Given the description of an element on the screen output the (x, y) to click on. 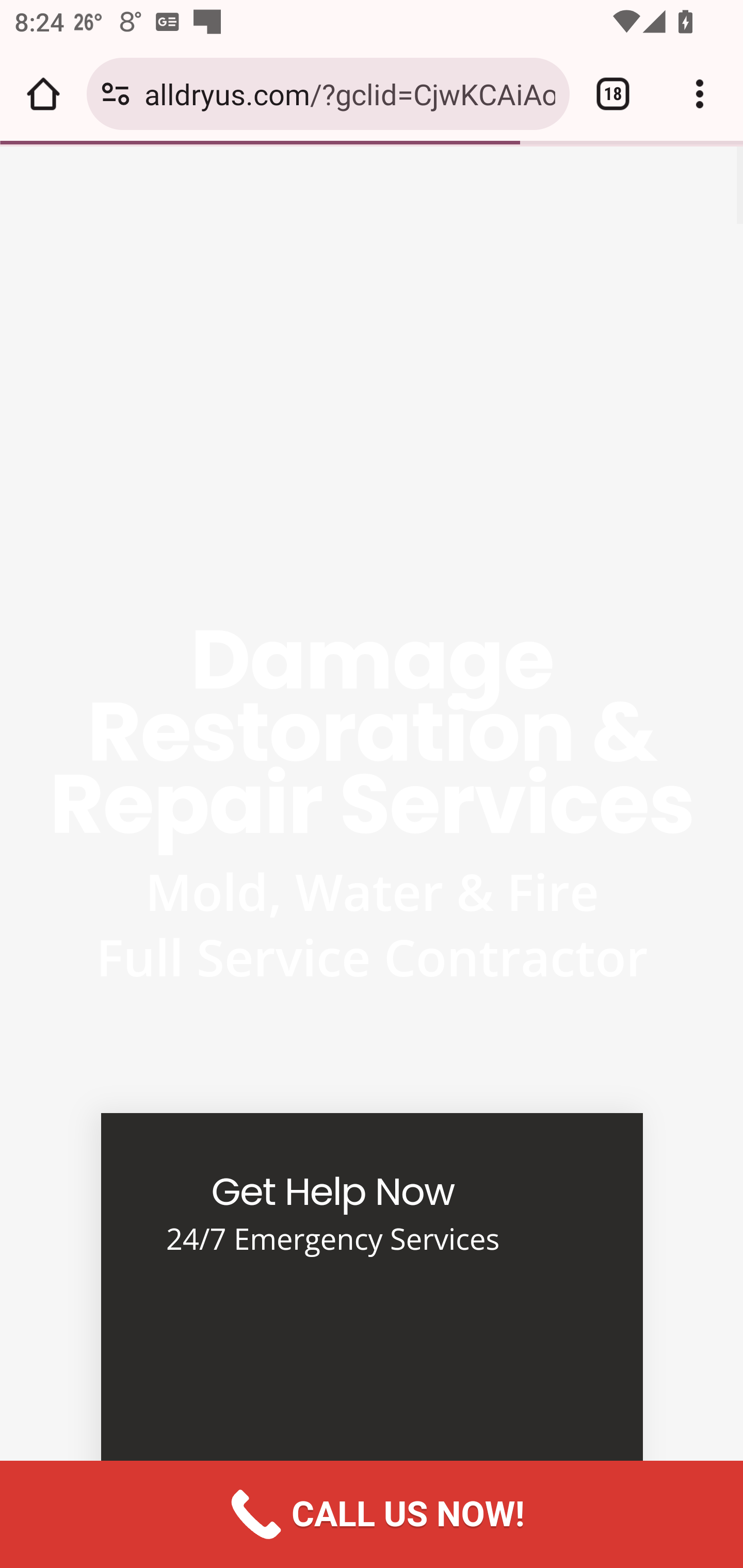
Open the home page (43, 93)
Connection is secure (115, 93)
Switch or close tabs (612, 93)
Customize and control Google Chrome (699, 93)
CALL US NOW! Call Now Button CALL US NOW! (371, 1513)
